Given the description of an element on the screen output the (x, y) to click on. 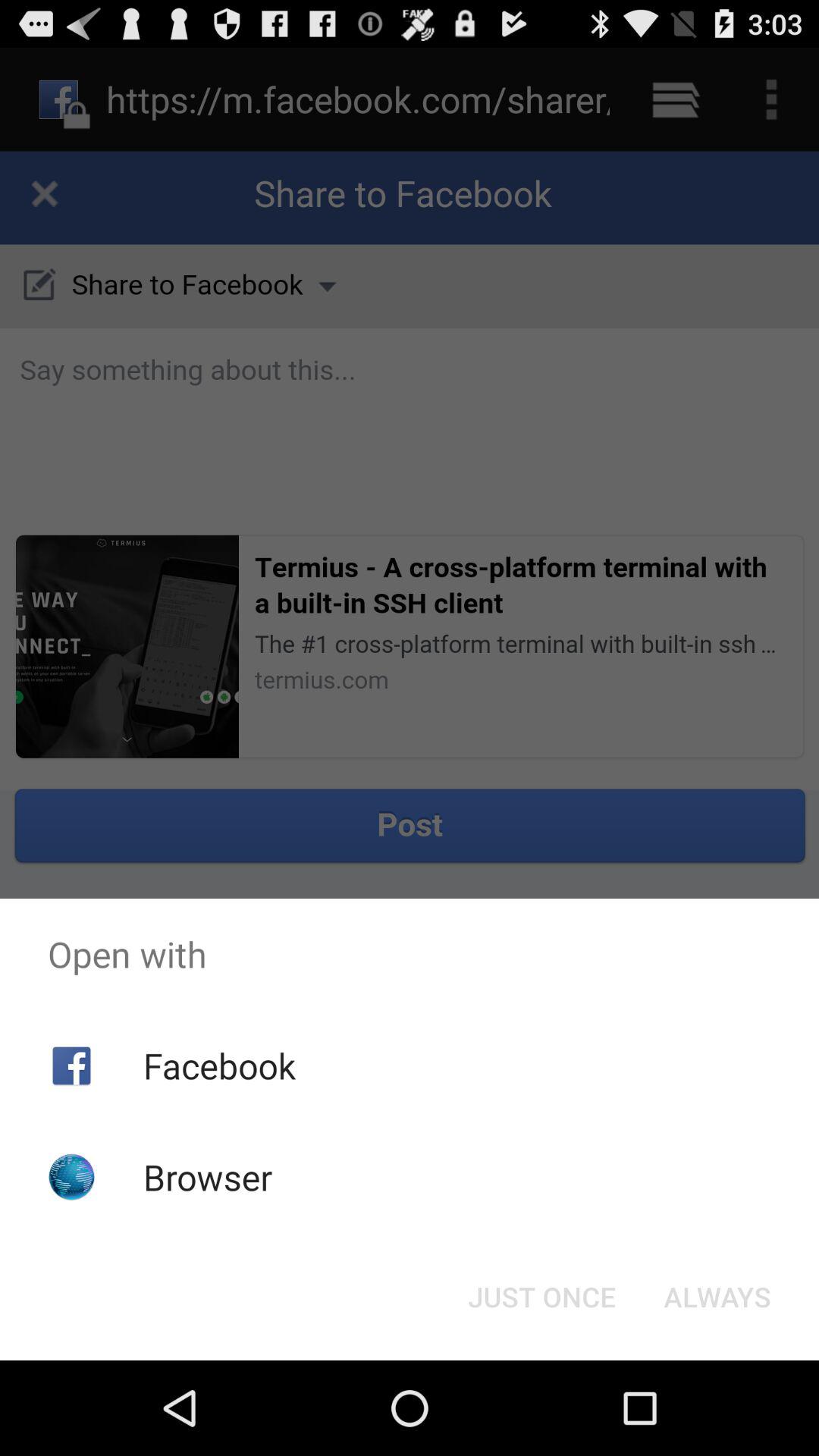
scroll to always button (717, 1296)
